Given the description of an element on the screen output the (x, y) to click on. 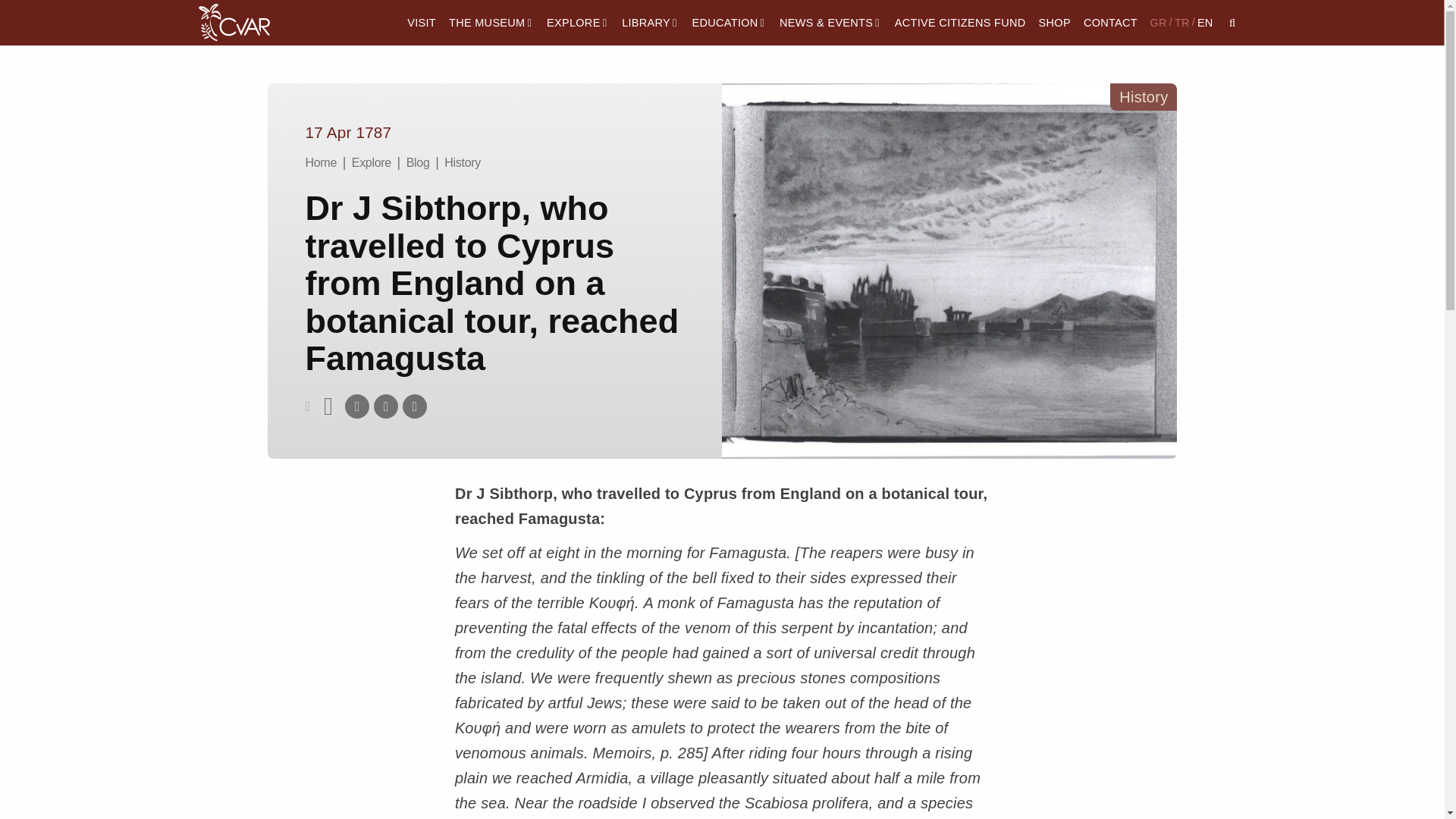
VISIT (421, 22)
THE MUSEUM (490, 22)
EXPLORE (577, 22)
EDUCATION (729, 22)
LIBRARY (650, 22)
